Given the description of an element on the screen output the (x, y) to click on. 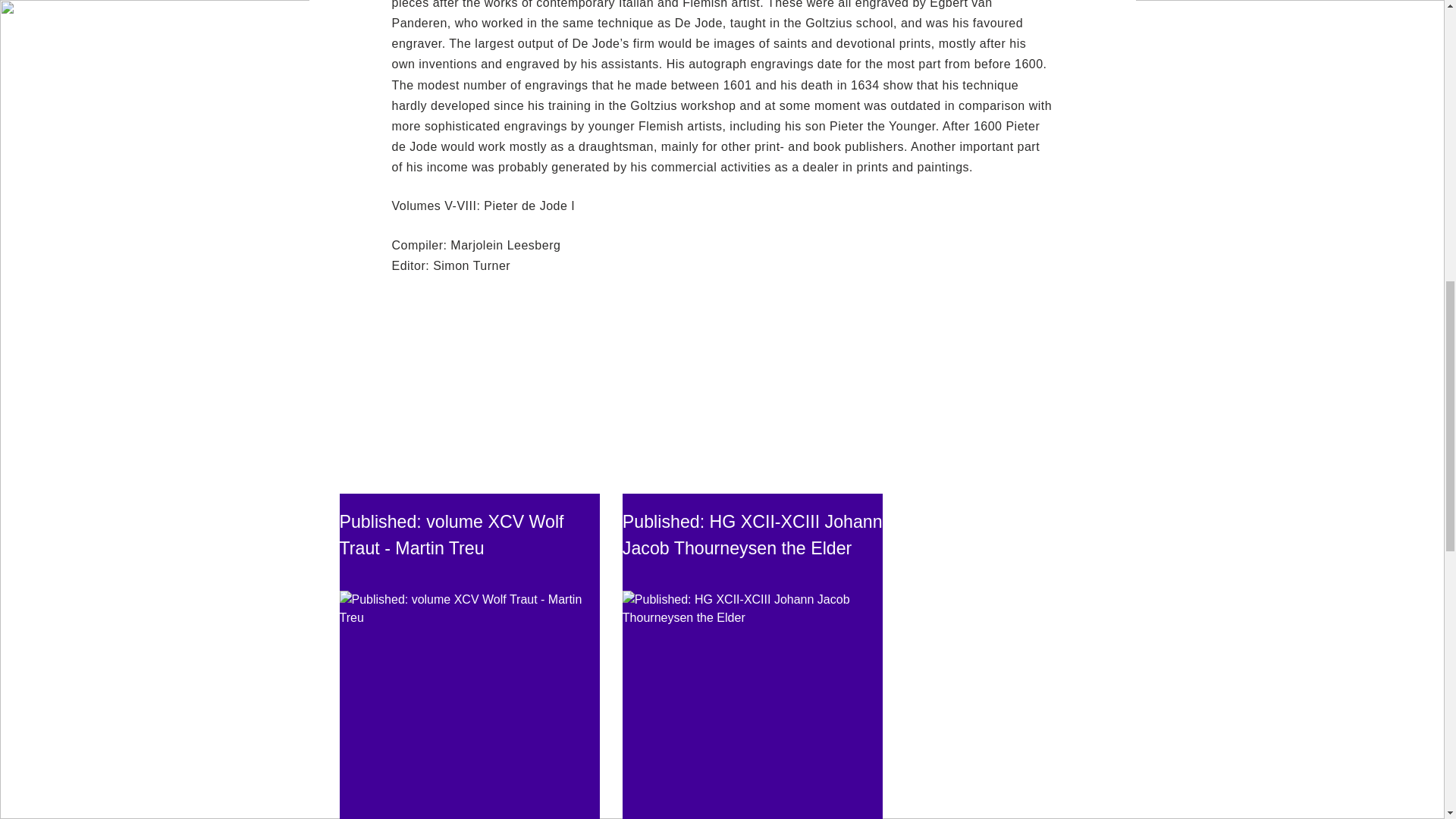
Published: volume XCV Wolf Traut - Martin Treu (451, 534)
Published: HG XCII-XCIII Johann Jacob Thourneysen the Elder (752, 534)
